Given the description of an element on the screen output the (x, y) to click on. 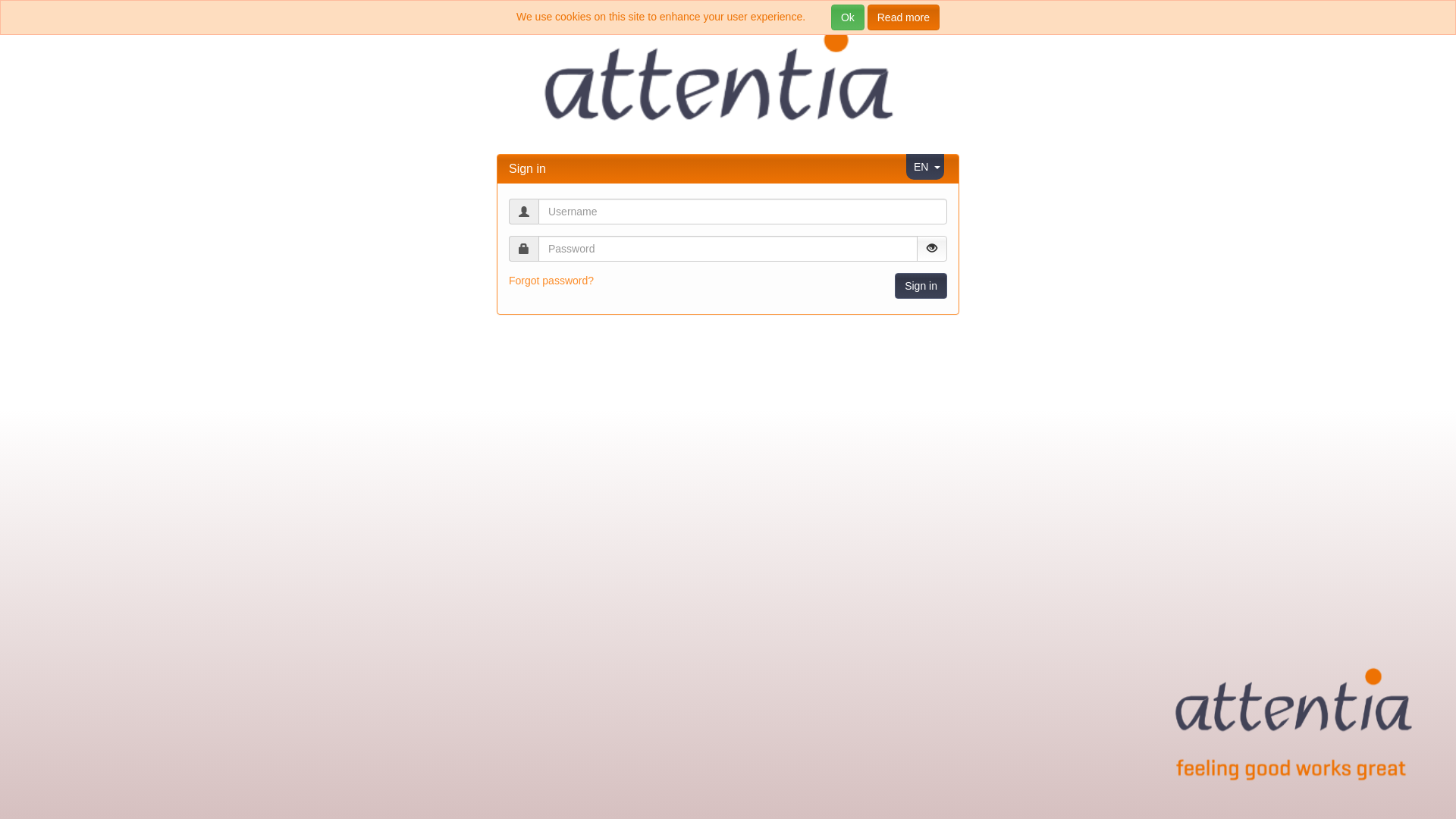
Read more Element type: text (903, 17)
Sign in Element type: text (920, 285)
EN Element type: text (920, 166)
Forgot password? Element type: text (550, 280)
Ok Element type: text (847, 17)
